Given the description of an element on the screen output the (x, y) to click on. 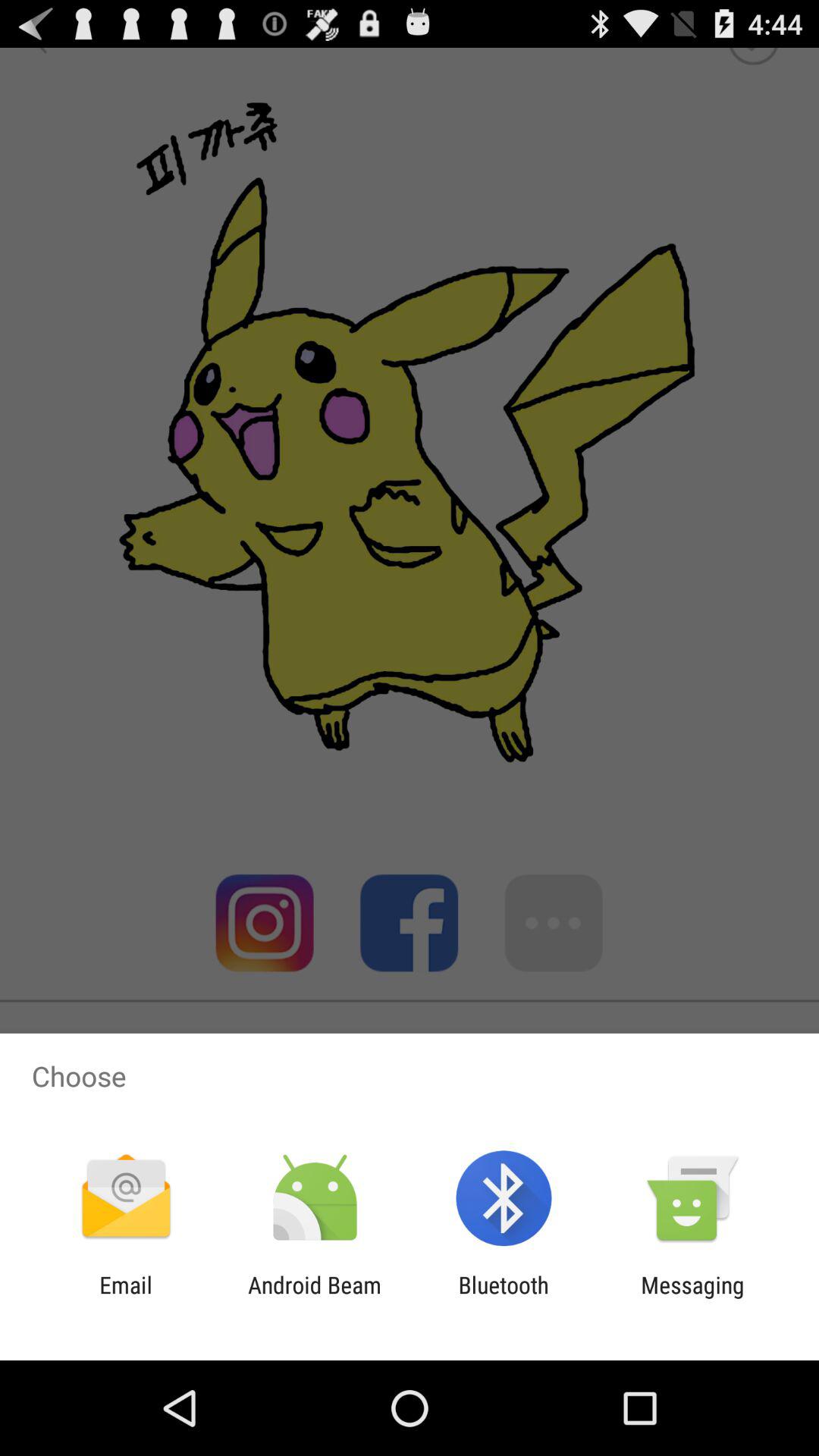
open icon to the left of android beam item (125, 1298)
